Given the description of an element on the screen output the (x, y) to click on. 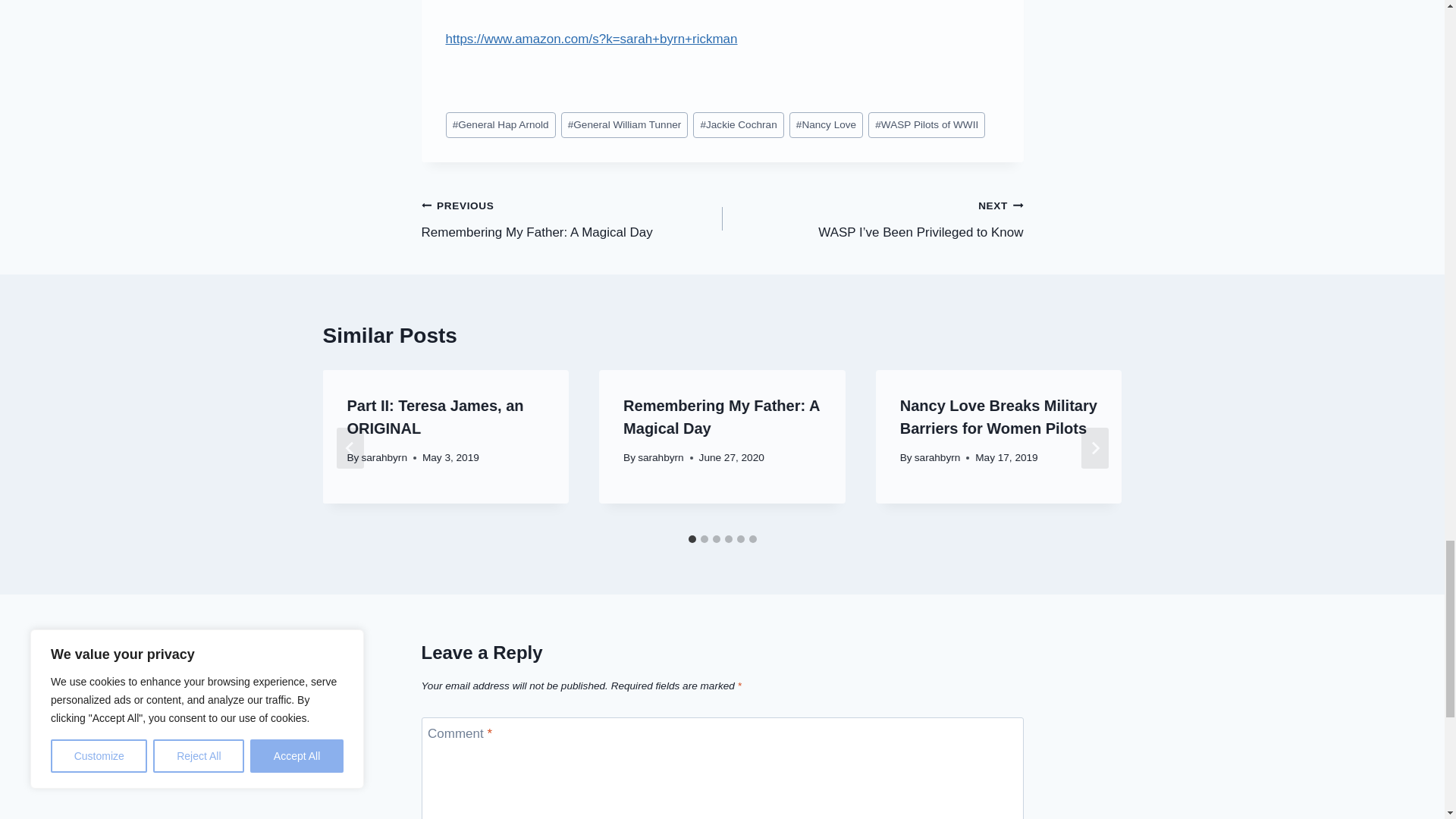
WASP Pilots of WWII (926, 125)
Nancy Love (826, 125)
General William Tunner (624, 125)
Jackie Cochran (572, 218)
General Hap Arnold (738, 125)
